Given the description of an element on the screen output the (x, y) to click on. 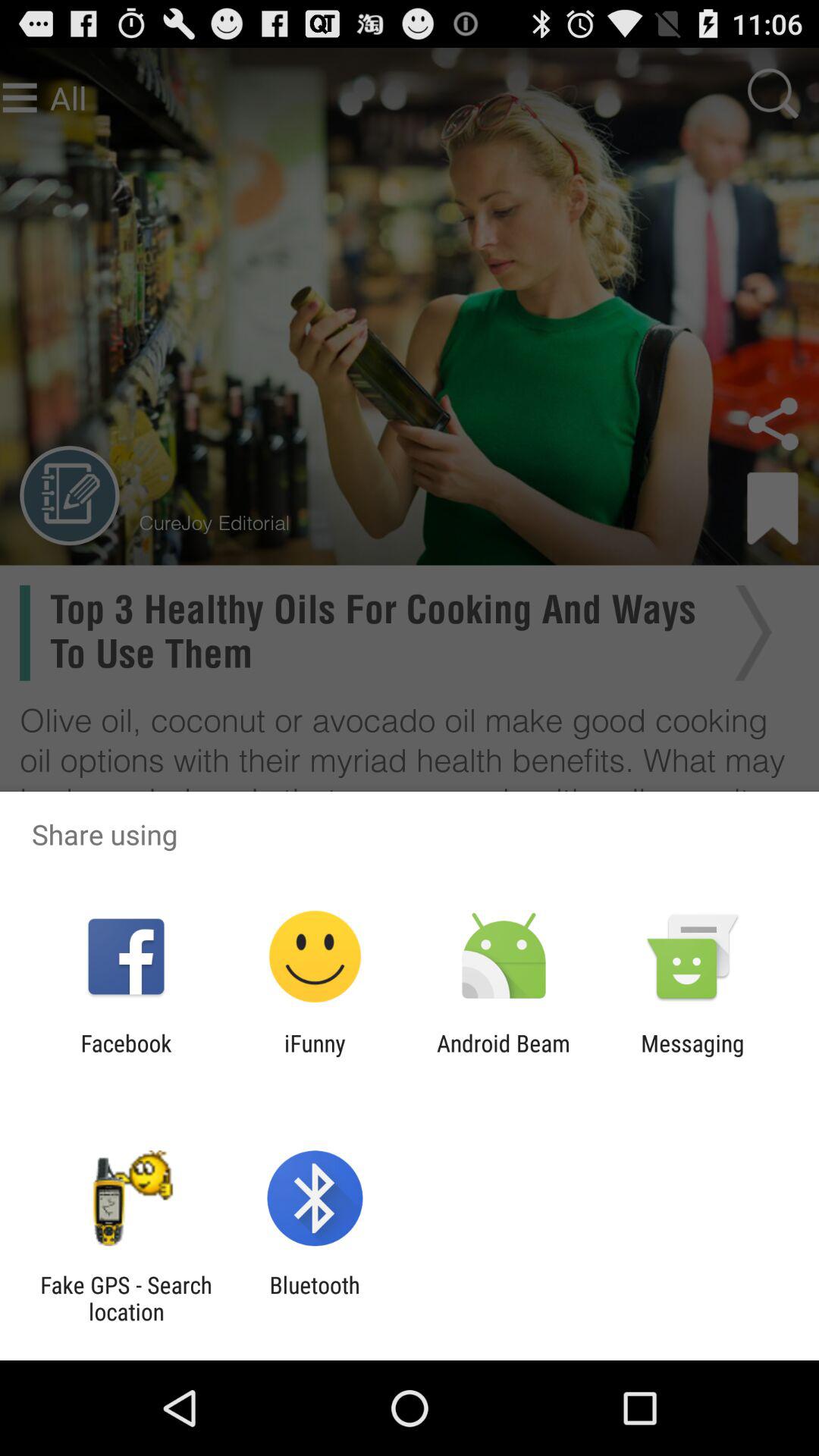
swipe until android beam app (503, 1056)
